Given the description of an element on the screen output the (x, y) to click on. 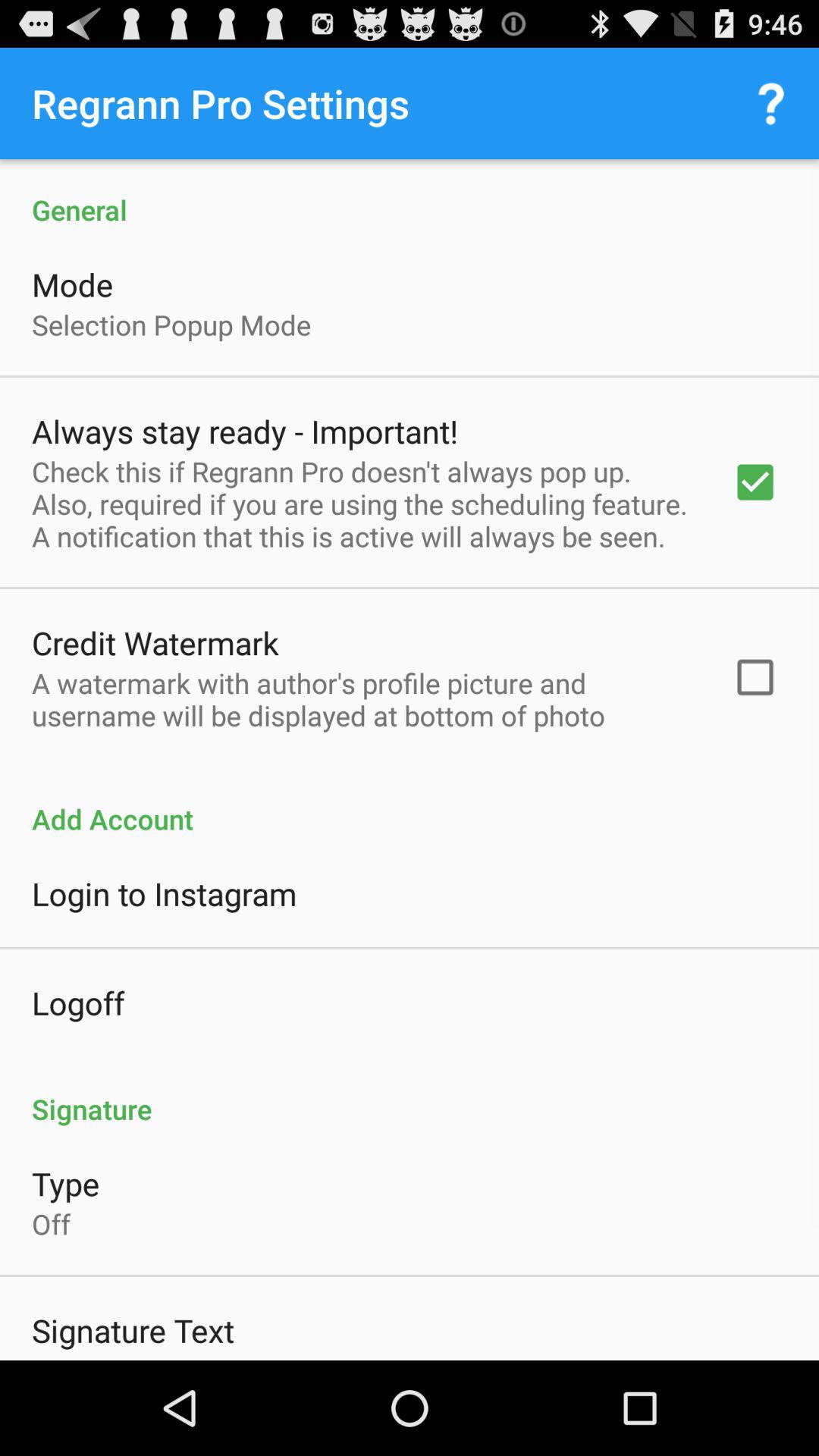
choose icon above the logoff item (163, 893)
